Given the description of an element on the screen output the (x, y) to click on. 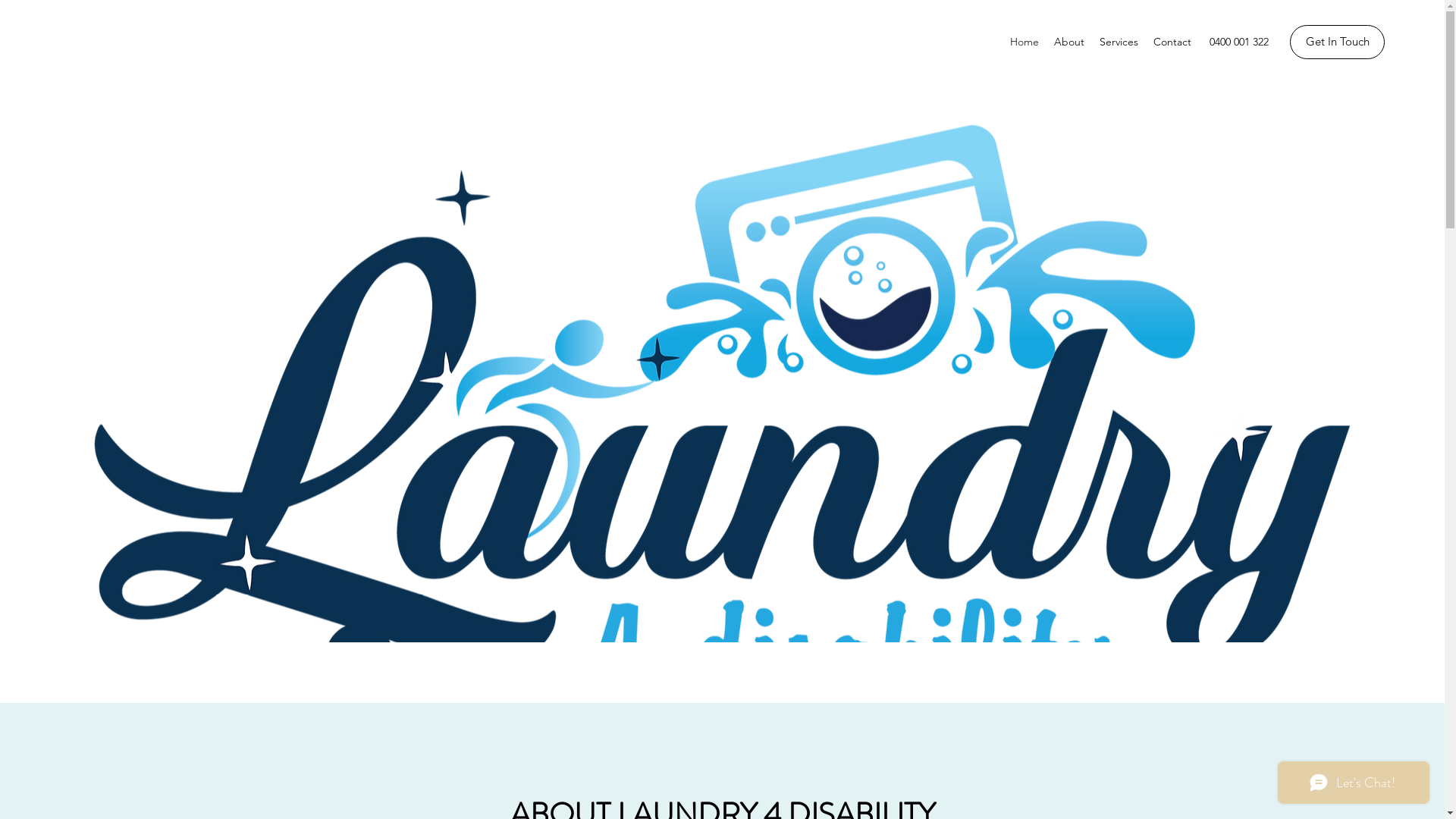
Contact Element type: text (1171, 41)
Get In Touch Element type: text (1336, 42)
Services Element type: text (1118, 41)
About Element type: text (1069, 41)
Home Element type: text (1024, 41)
